Given the description of an element on the screen output the (x, y) to click on. 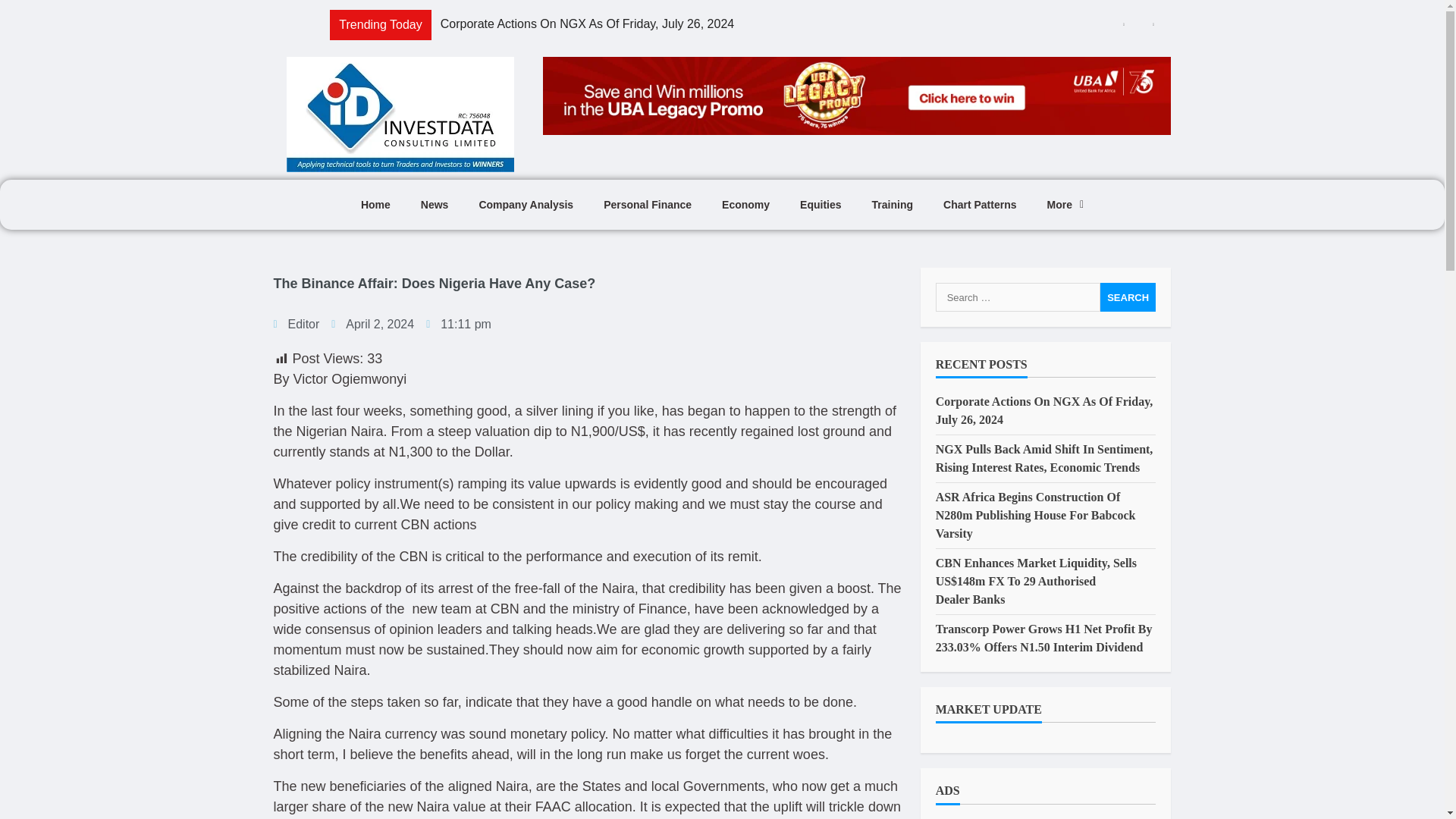
WhatsApp (5, 105)
Chart Patterns (979, 204)
Personal Finance (647, 204)
Editor (295, 324)
Facebook (5, 81)
Company Analysis (525, 204)
News (435, 204)
More (1064, 204)
Search (1128, 297)
Economy (745, 204)
Twitter (5, 87)
Home (376, 204)
Search (1128, 297)
April 2, 2024 (372, 324)
Training (892, 204)
